Given the description of an element on the screen output the (x, y) to click on. 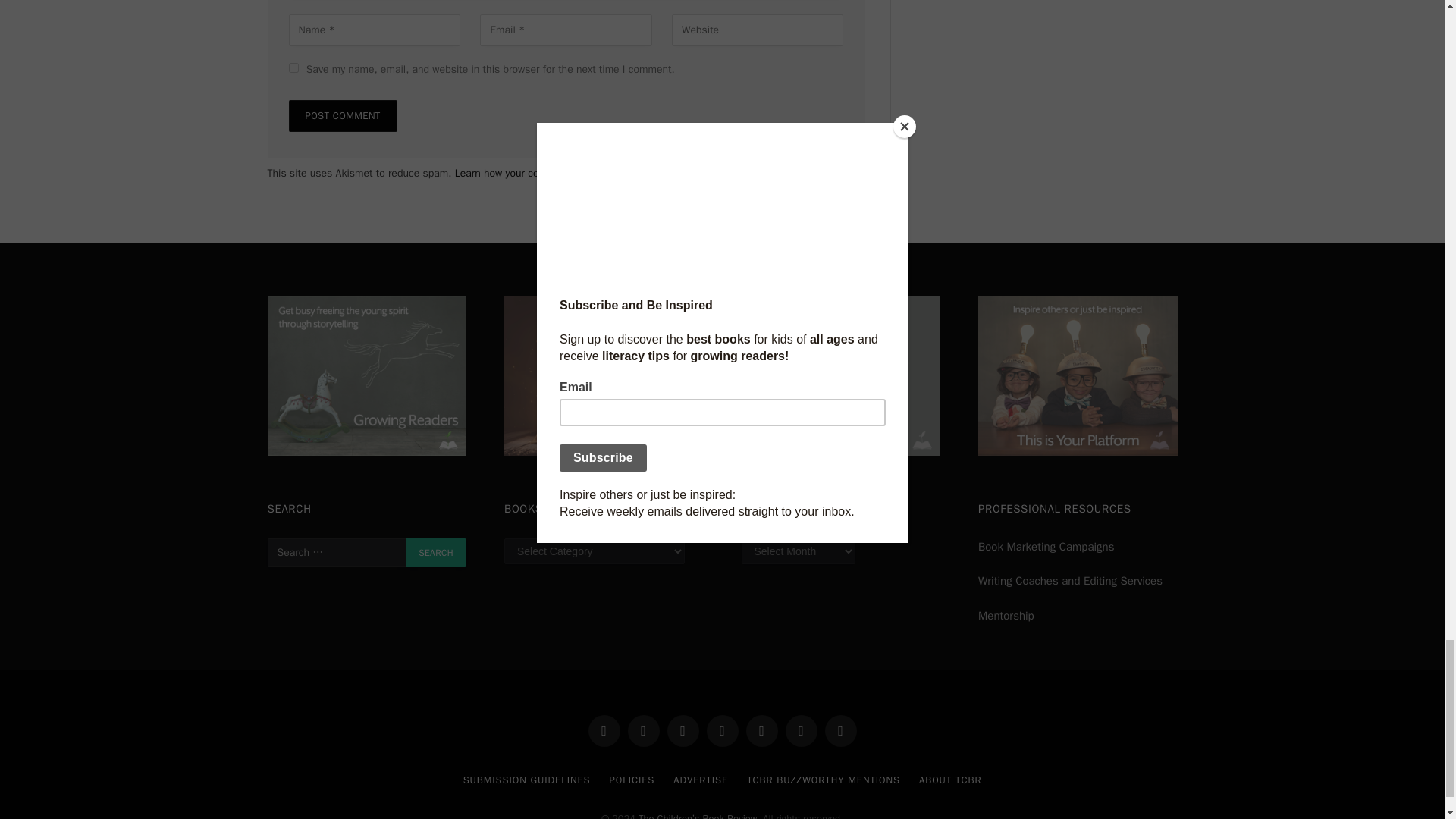
Search (435, 552)
Post Comment (342, 115)
Search (435, 552)
yes (293, 67)
